Given the description of an element on the screen output the (x, y) to click on. 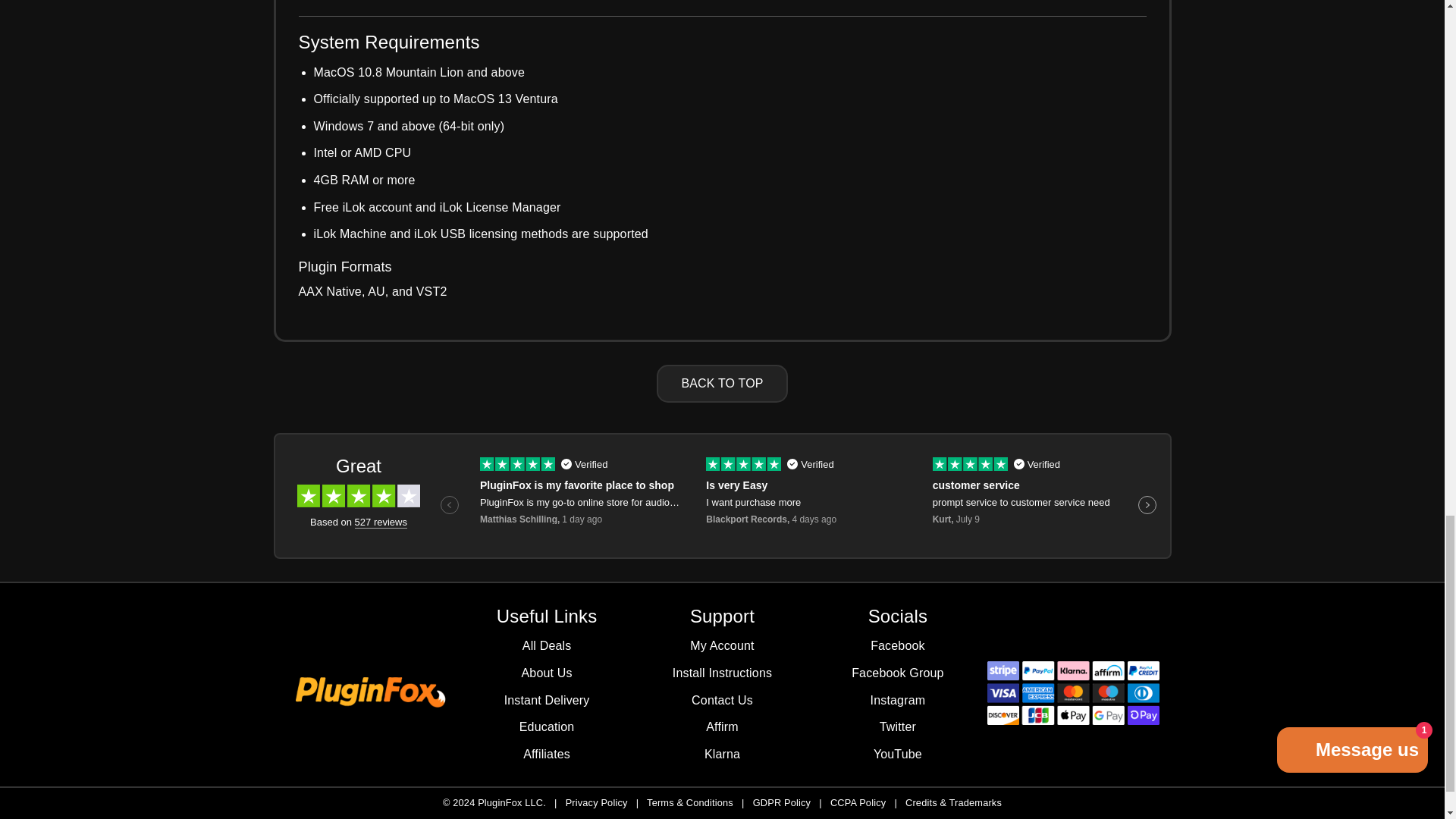
Back to top (721, 383)
Customer reviews powered by Trustpilot (721, 495)
